Given the description of an element on the screen output the (x, y) to click on. 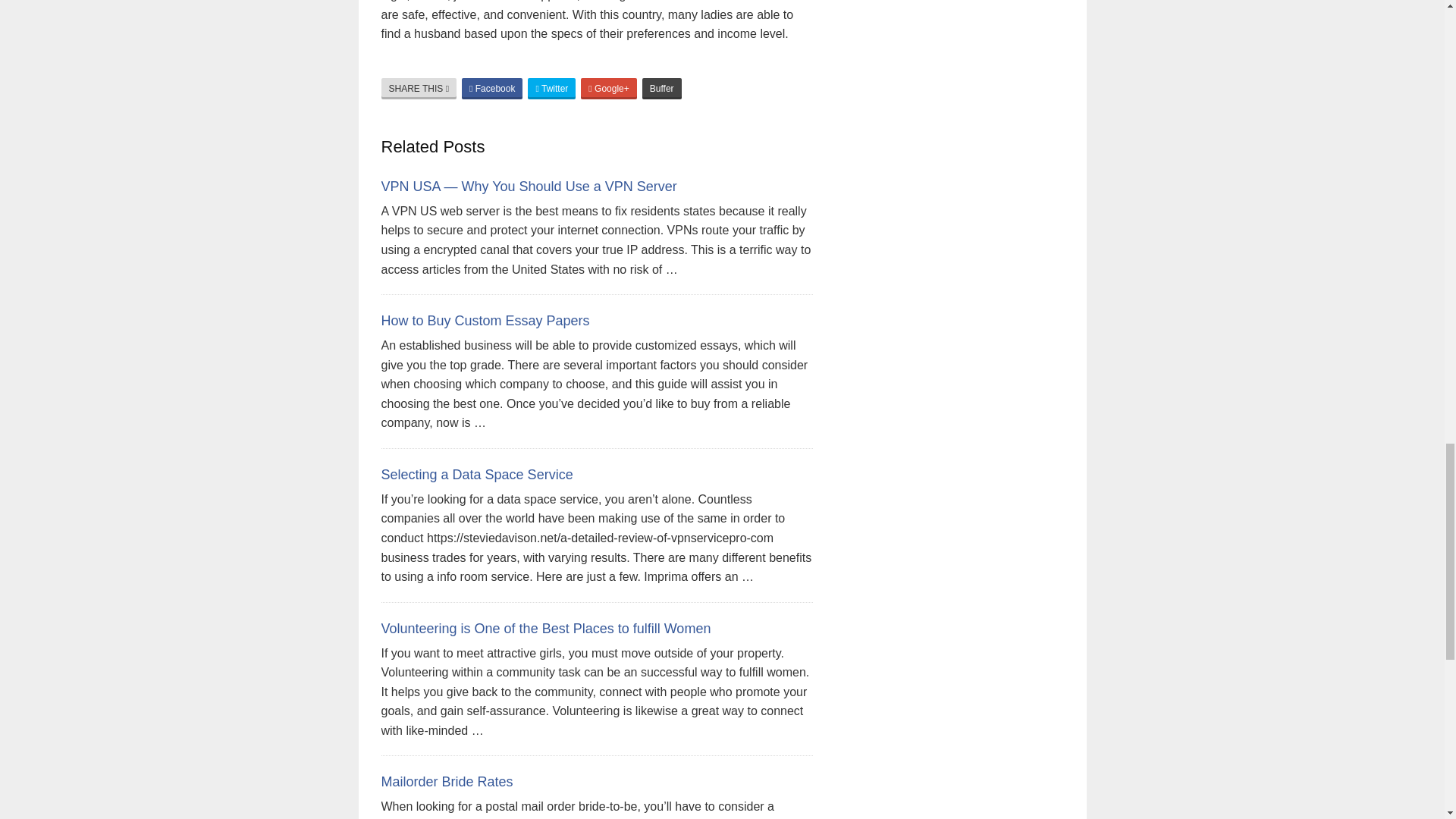
How to Buy Custom Essay Papers (484, 320)
Selecting a Data Space Service (476, 474)
Facebook (491, 88)
Volunteering is One of the Best Places to fulfill Women (545, 628)
Mailorder Bride Rates (446, 781)
Buffer (661, 88)
Twitter (551, 88)
